Given the description of an element on the screen output the (x, y) to click on. 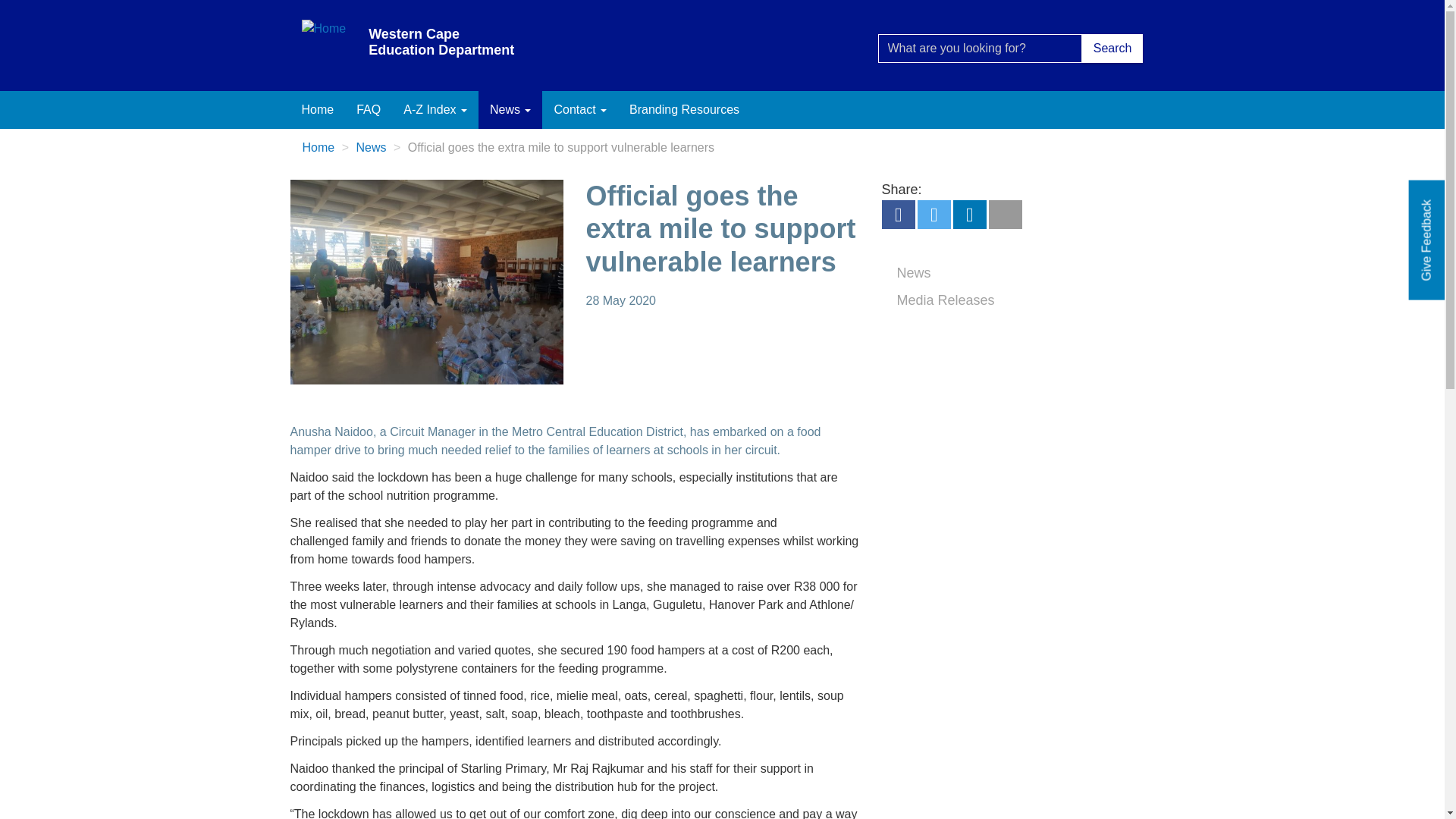
A-Z Index (435, 109)
Branding Resources (684, 109)
Contact (579, 109)
Search (908, 68)
Share on Linkedin (968, 216)
Search (1111, 48)
Share on Twitter (933, 216)
Share on Facebook (897, 216)
Official goes the extra mile to support vulnerable learners (425, 281)
Western Cape Education Department (443, 46)
Enter the terms you wish to search for. (979, 48)
Home (443, 46)
News (510, 109)
FAQ (368, 109)
